Given the description of an element on the screen output the (x, y) to click on. 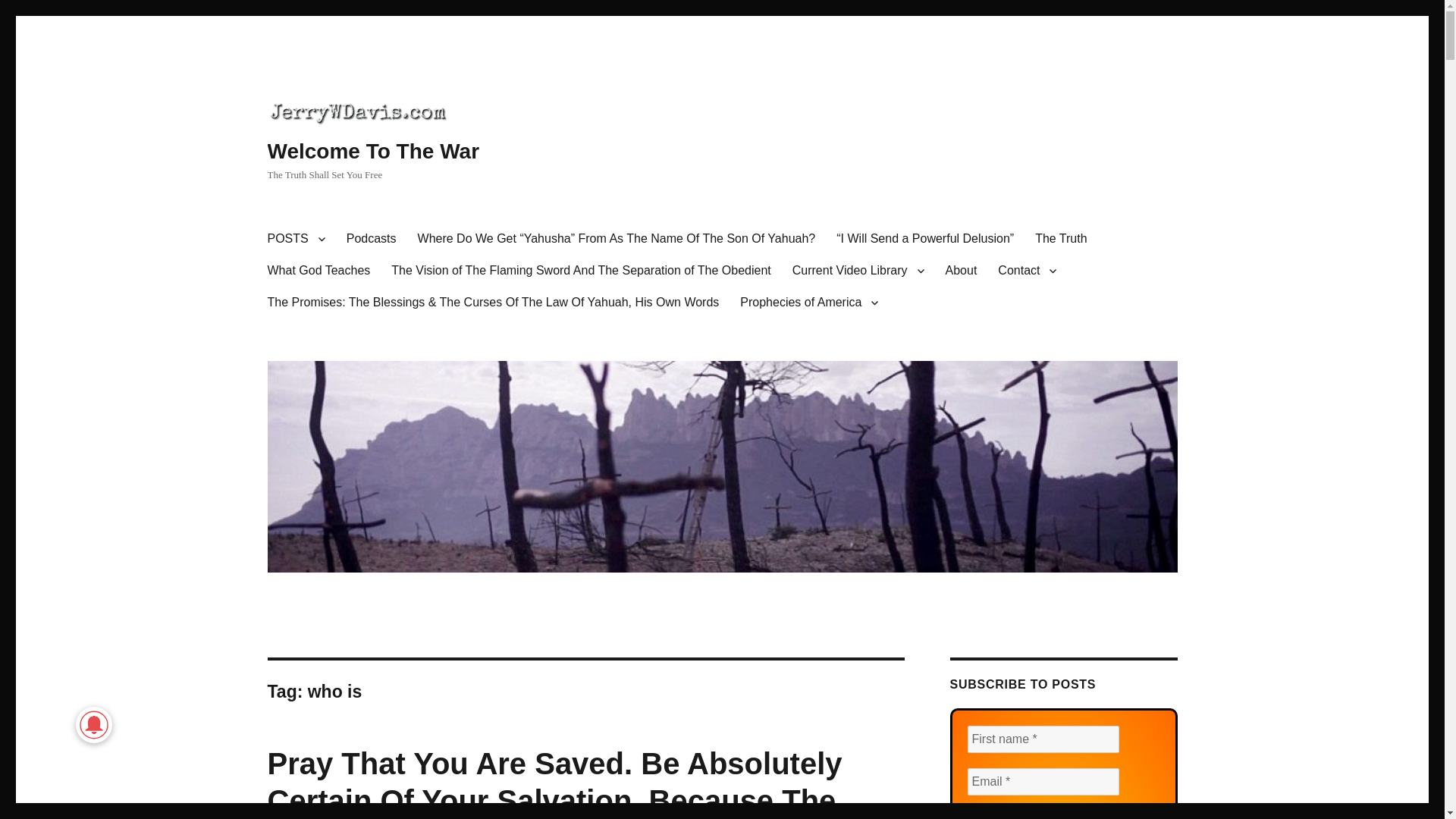
The Truth (1061, 238)
POSTS (295, 238)
What God Teaches (318, 270)
Contact (1027, 270)
Prophecies of America (808, 302)
Podcasts (371, 238)
Current Video Library (857, 270)
First name (1043, 738)
Subscribe! (1012, 814)
